Given the description of an element on the screen output the (x, y) to click on. 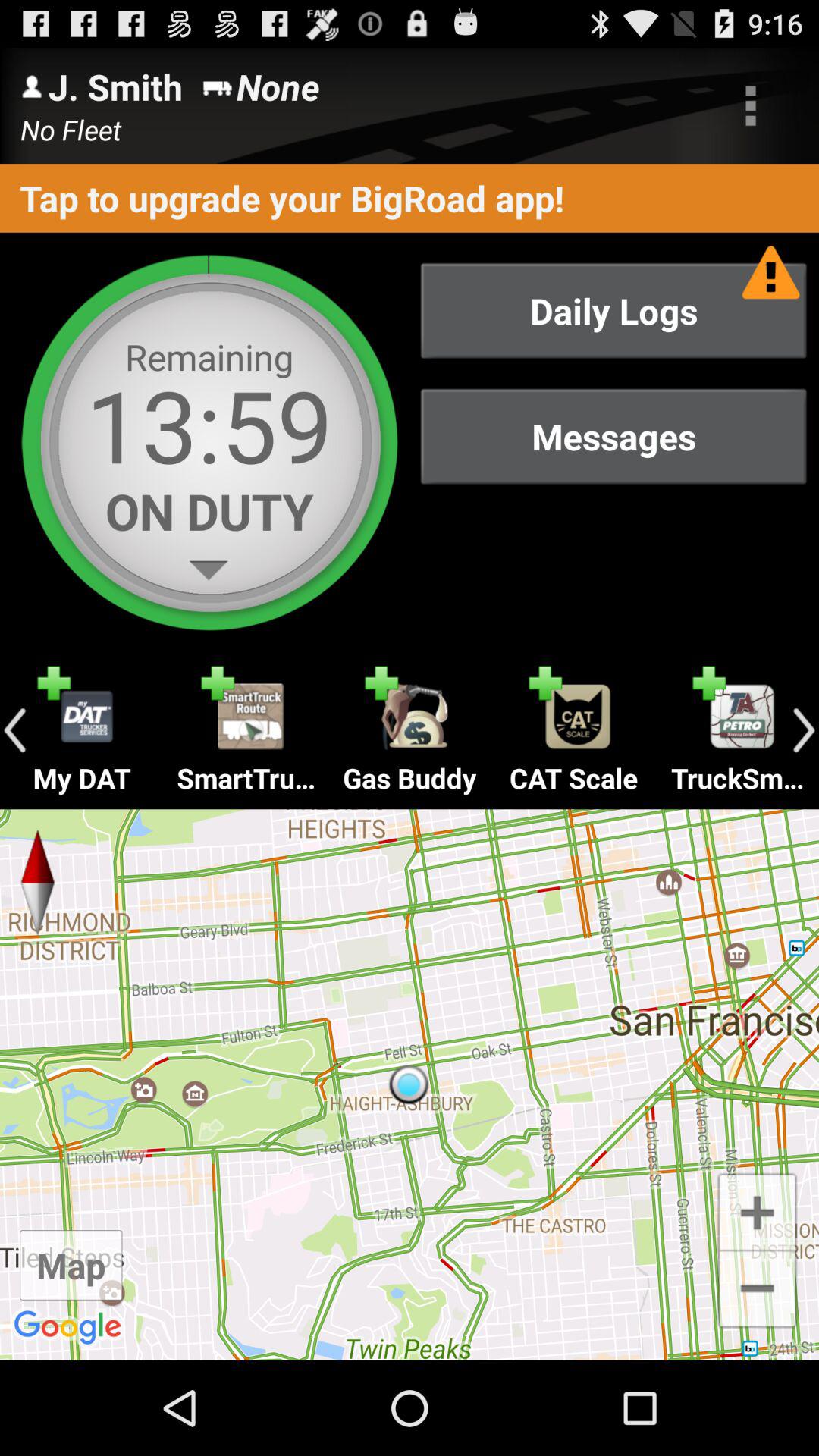
click item to the right of none  item (750, 105)
